Given the description of an element on the screen output the (x, y) to click on. 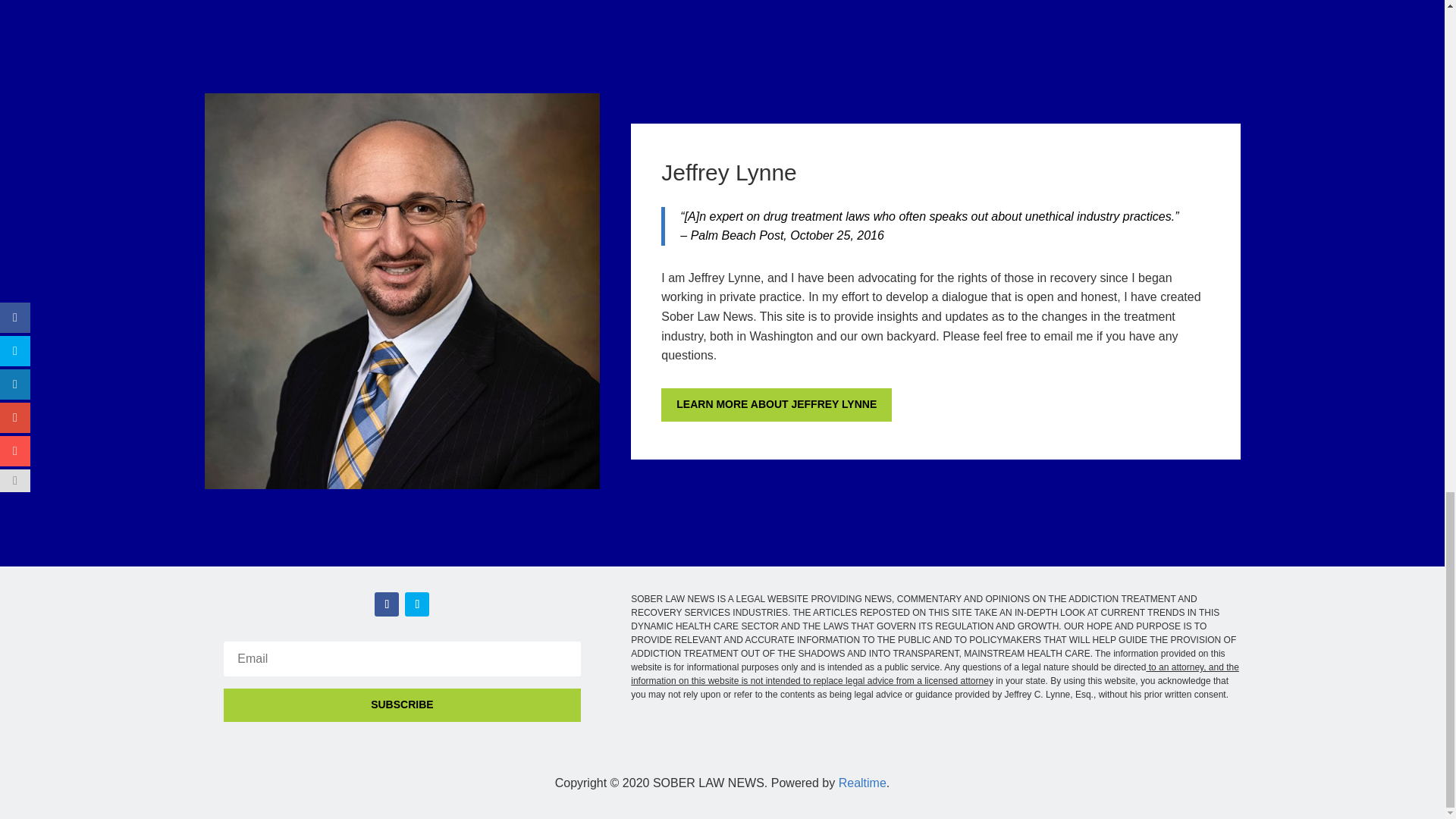
Follow on Twitter (416, 604)
Follow on Facebook (386, 604)
